Given the description of an element on the screen output the (x, y) to click on. 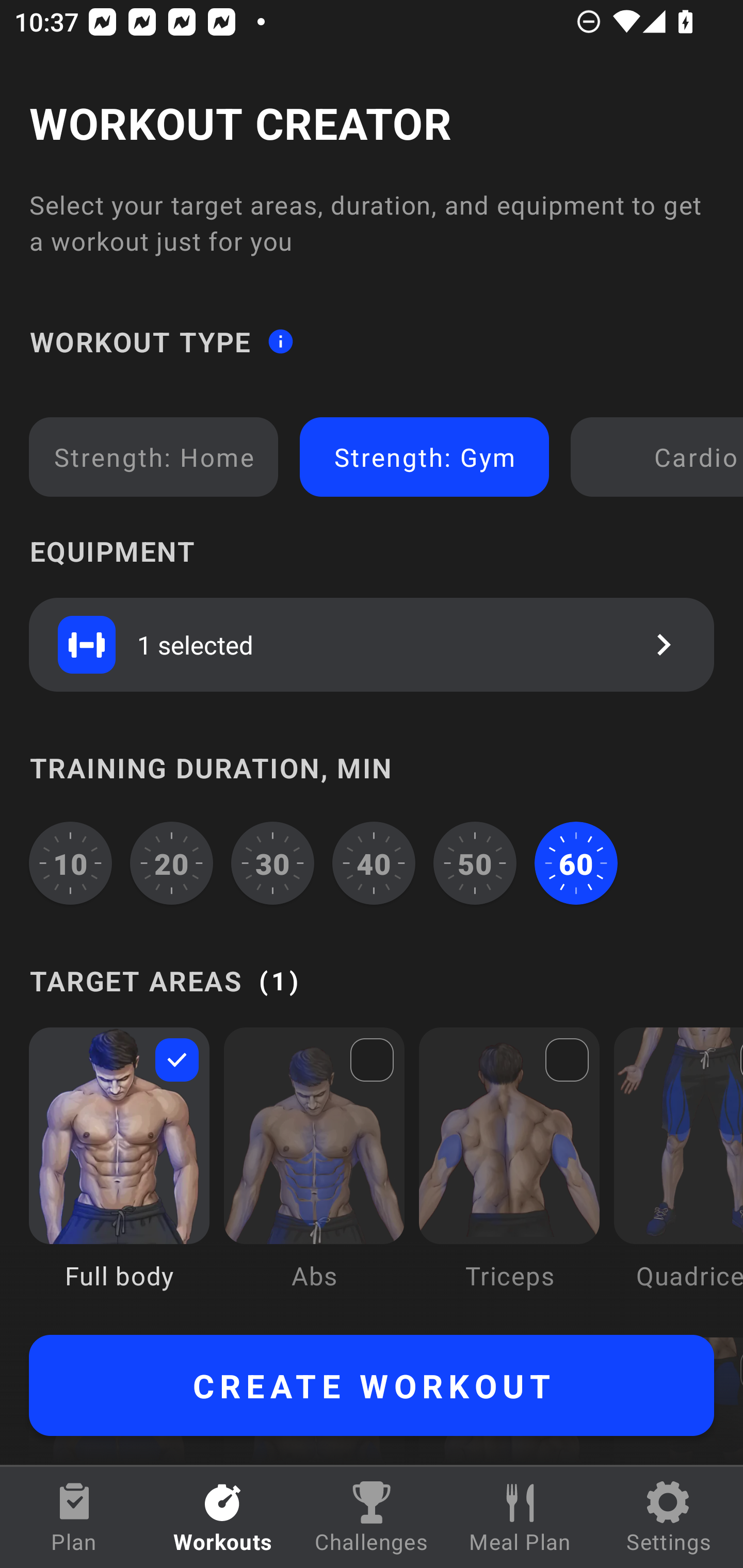
Workout type information button (280, 340)
Strength: Home (153, 457)
Cardio (660, 457)
1 selected (371, 644)
10 (70, 863)
20 (171, 863)
30 (272, 863)
40 (373, 863)
50 (474, 863)
60 (575, 863)
Abs (313, 1172)
Triceps (509, 1172)
Quadriceps (678, 1172)
CREATE WORKOUT (371, 1385)
 Plan  (74, 1517)
 Challenges  (371, 1517)
 Meal Plan  (519, 1517)
 Settings  (668, 1517)
